Given the description of an element on the screen output the (x, y) to click on. 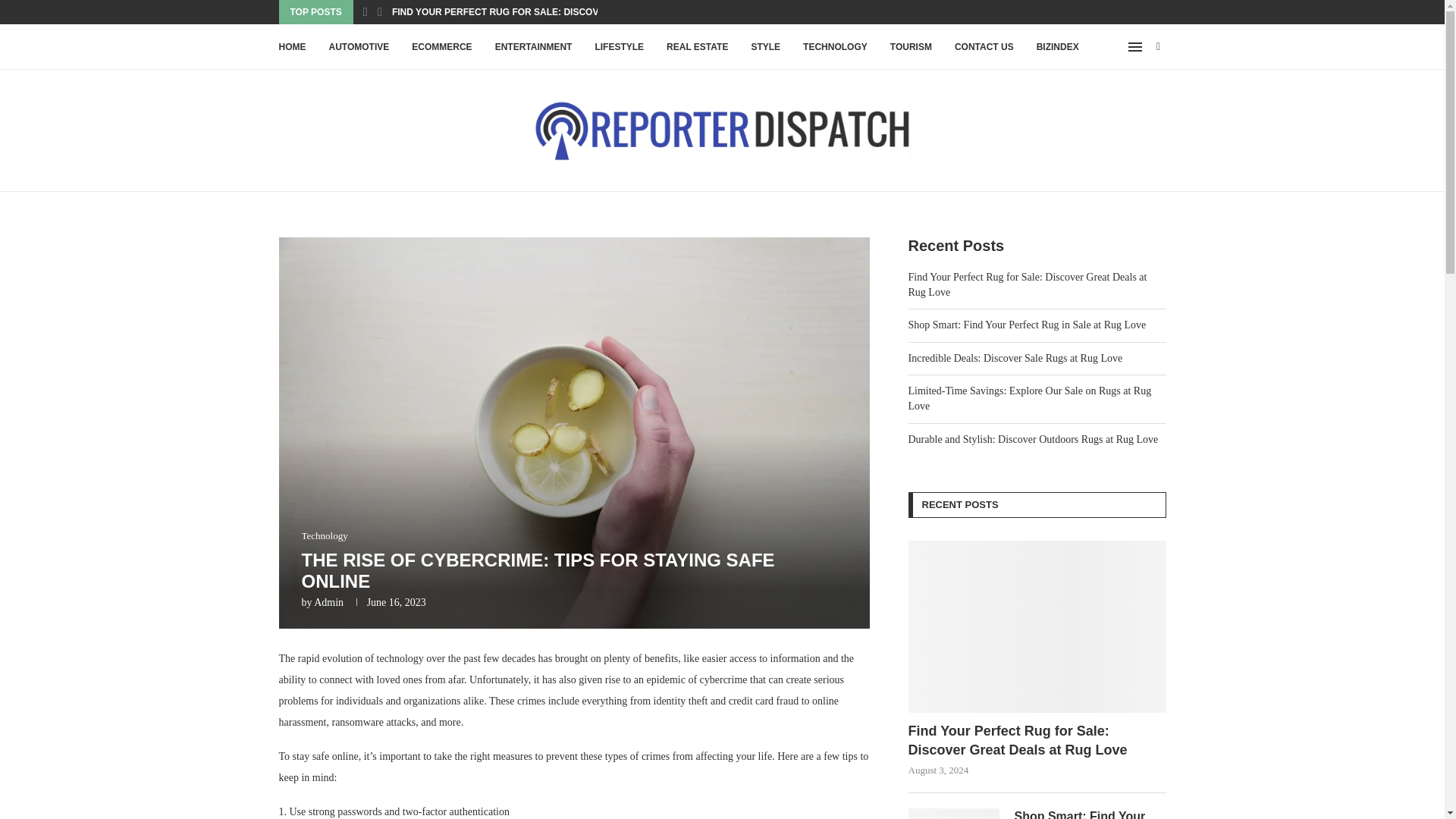
Technology (324, 535)
Admin (328, 602)
TECHNOLOGY (835, 46)
CONTACT US (984, 46)
AUTOMOTIVE (359, 46)
Shop Smart: Find Your Perfect Rug in Sale at Rug Love (1090, 813)
REAL ESTATE (697, 46)
TOURISM (910, 46)
ECOMMERCE (441, 46)
LIFESTYLE (618, 46)
Shop Smart: Find Your Perfect Rug in Sale at Rug Love (953, 813)
ENTERTAINMENT (533, 46)
BIZINDEX (1057, 46)
